Given the description of an element on the screen output the (x, y) to click on. 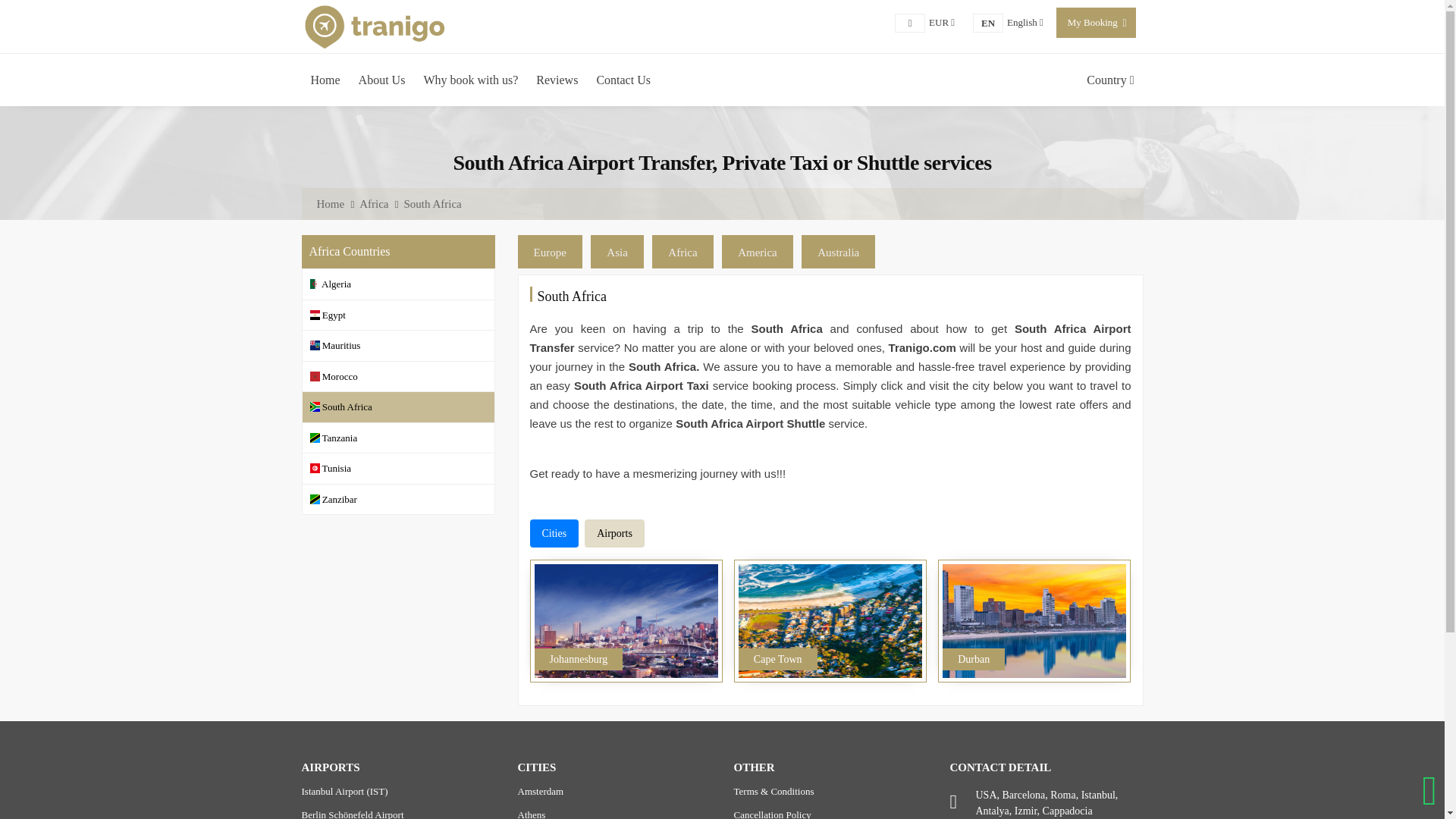
Reviews (556, 80)
Country (1110, 80)
Contact Us (1025, 21)
Why book with us? (622, 80)
About Us (470, 80)
My Booking (382, 80)
EUR (1092, 21)
